Given the description of an element on the screen output the (x, y) to click on. 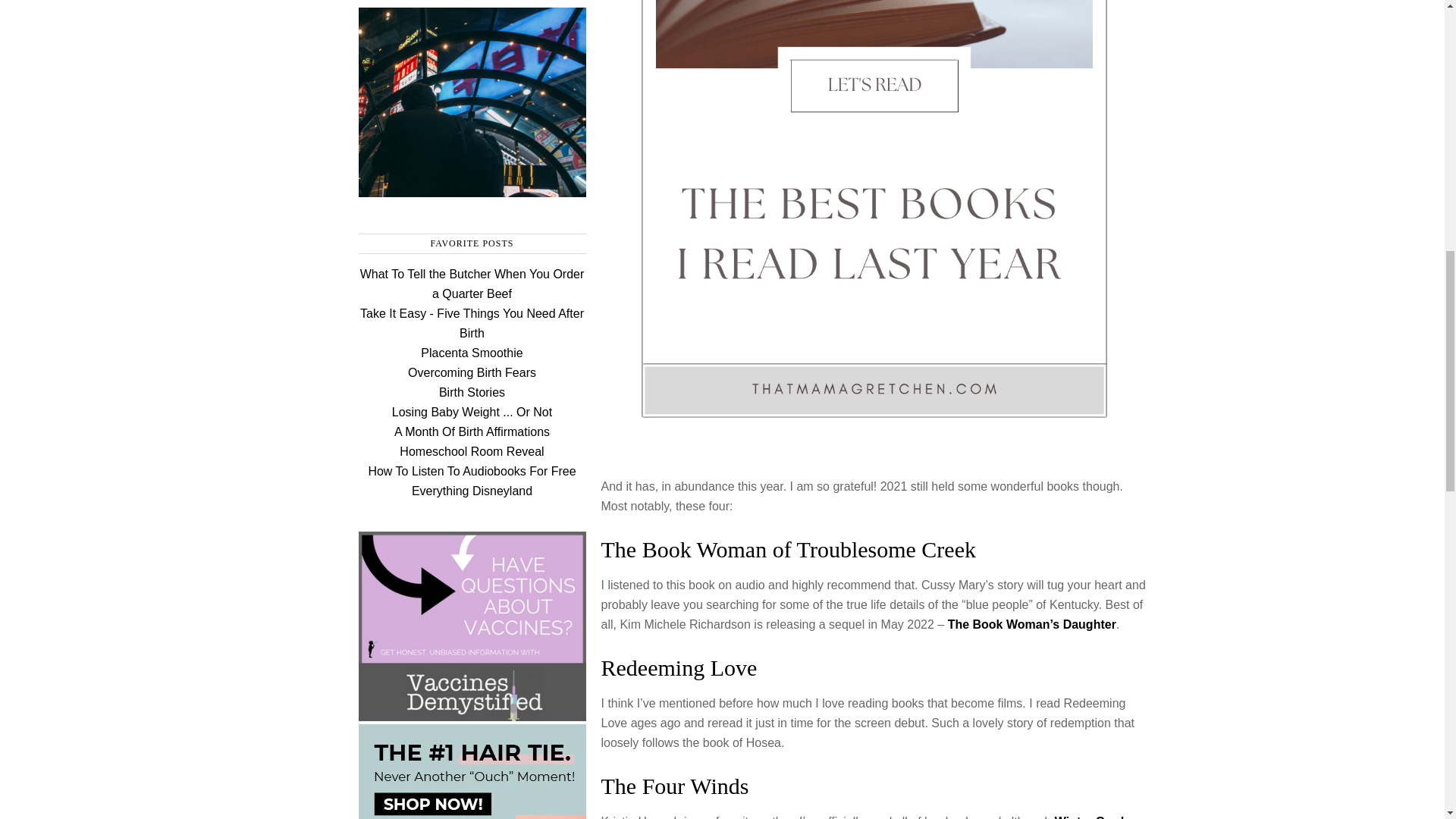
The Four Winds (673, 785)
Birth Stories (472, 391)
Placenta Smoothie (471, 352)
Overcoming Birth Fears (471, 372)
Naturopathic Pediatrics (471, 713)
What To Tell the Butcher When You Order a Quarter Beef (472, 283)
Winter Garden (1096, 816)
Redeeming Love (678, 667)
Take It Easy - Five Things You Need After Birth (471, 323)
Losing Baby Weight ... Or Not (471, 411)
A Month Of Birth Affirmations (472, 431)
The Book Woman of Troublesome Creek (787, 549)
